Given the description of an element on the screen output the (x, y) to click on. 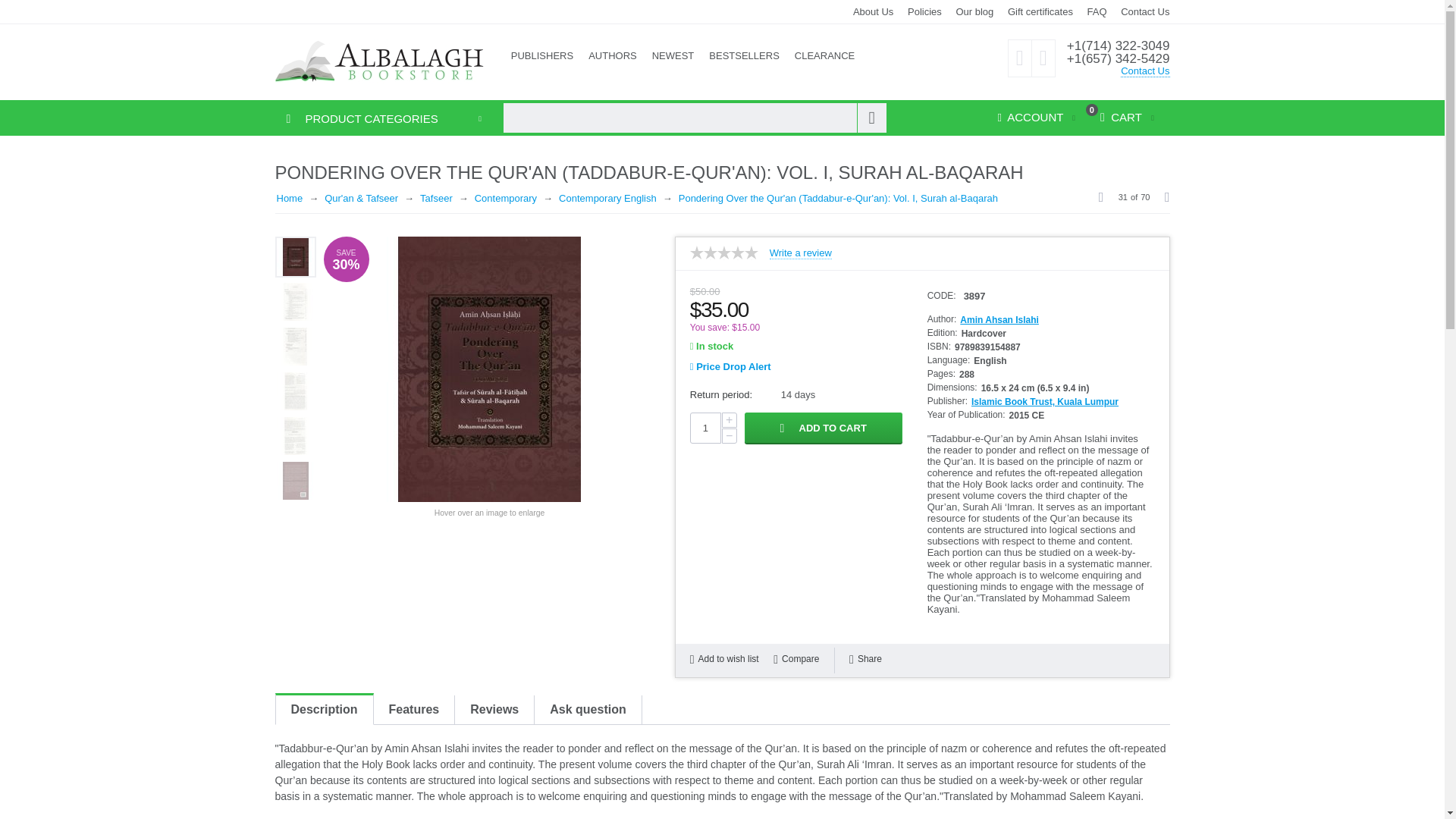
Our blog (973, 11)
1 (705, 427)
PUBLISHERS (541, 55)
Contact Us (1145, 11)
CLEARANCE (824, 55)
Contact Us (1145, 70)
Albalagh Bookstore (379, 60)
Search (871, 117)
BESTSELLERS (744, 55)
About Us (873, 11)
